Given the description of an element on the screen output the (x, y) to click on. 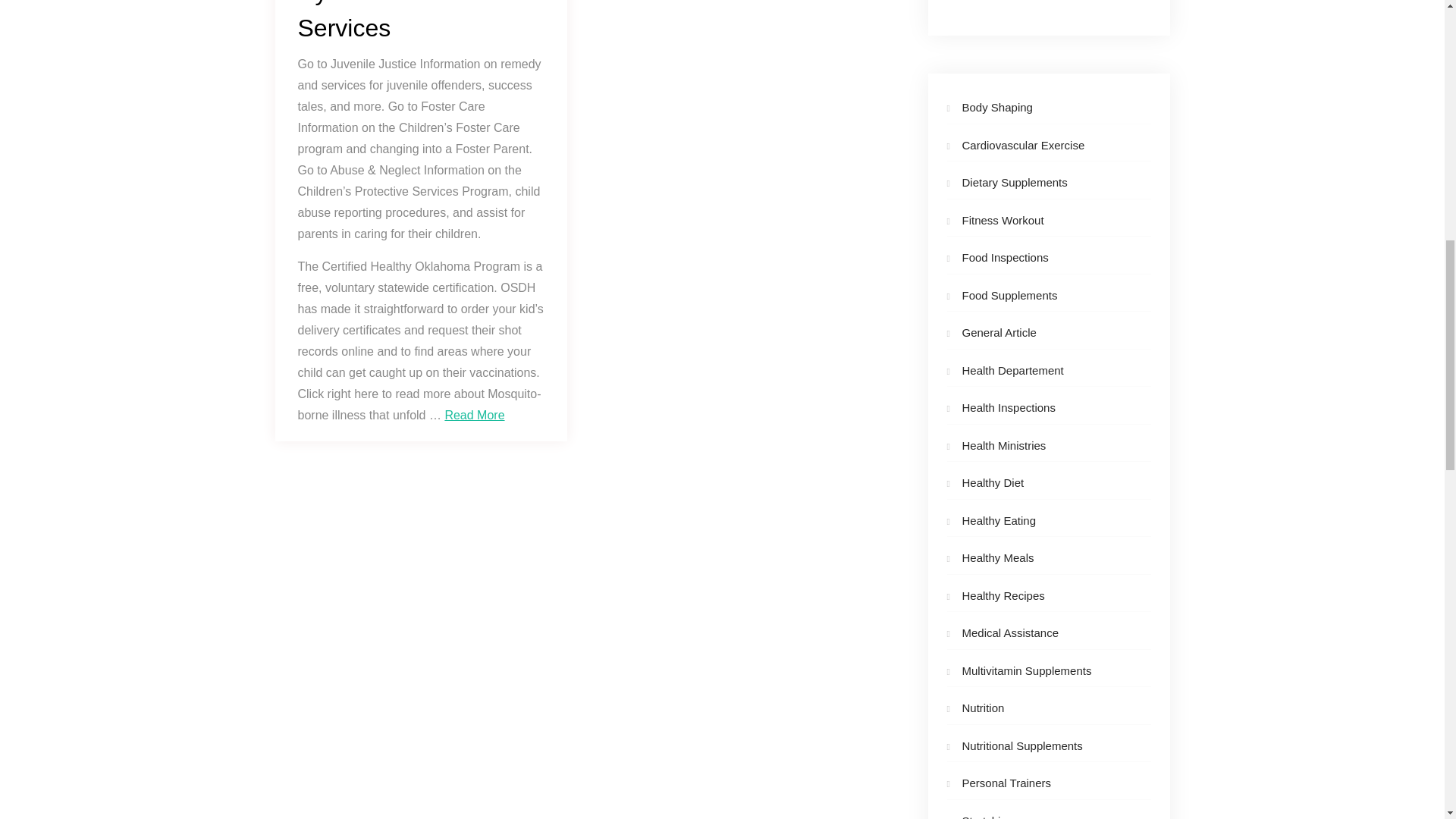
Food Inspections (1004, 256)
Healthy Recipes (1001, 594)
Healthy Diet (991, 481)
Cardiovascular Exercise (1022, 144)
Read More (473, 414)
Fitness Workout (1001, 219)
General Article (997, 332)
Healthy Meals (996, 557)
Healthy Eating (997, 520)
